Given the description of an element on the screen output the (x, y) to click on. 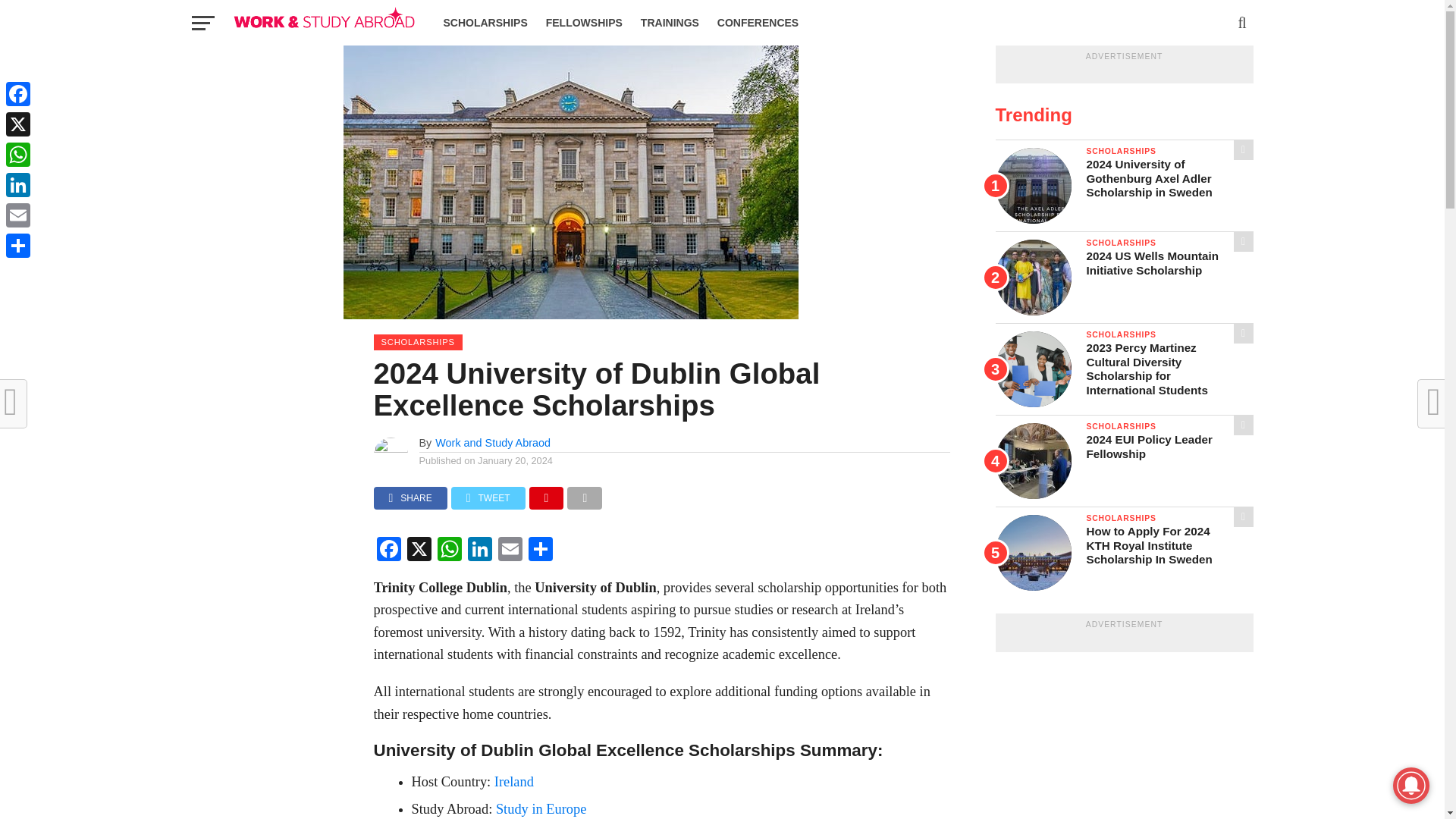
Facebook (387, 551)
WhatsApp (448, 551)
X (418, 551)
CONFERENCES (757, 22)
FELLOWSHIPS (584, 22)
SCHOLARSHIPS (484, 22)
Email (509, 551)
Study in Europe  (542, 808)
Email (509, 551)
Ireland (514, 781)
LinkedIn (479, 551)
Share (539, 551)
Facebook (387, 551)
TRAININGS (669, 22)
X (418, 551)
